Given the description of an element on the screen output the (x, y) to click on. 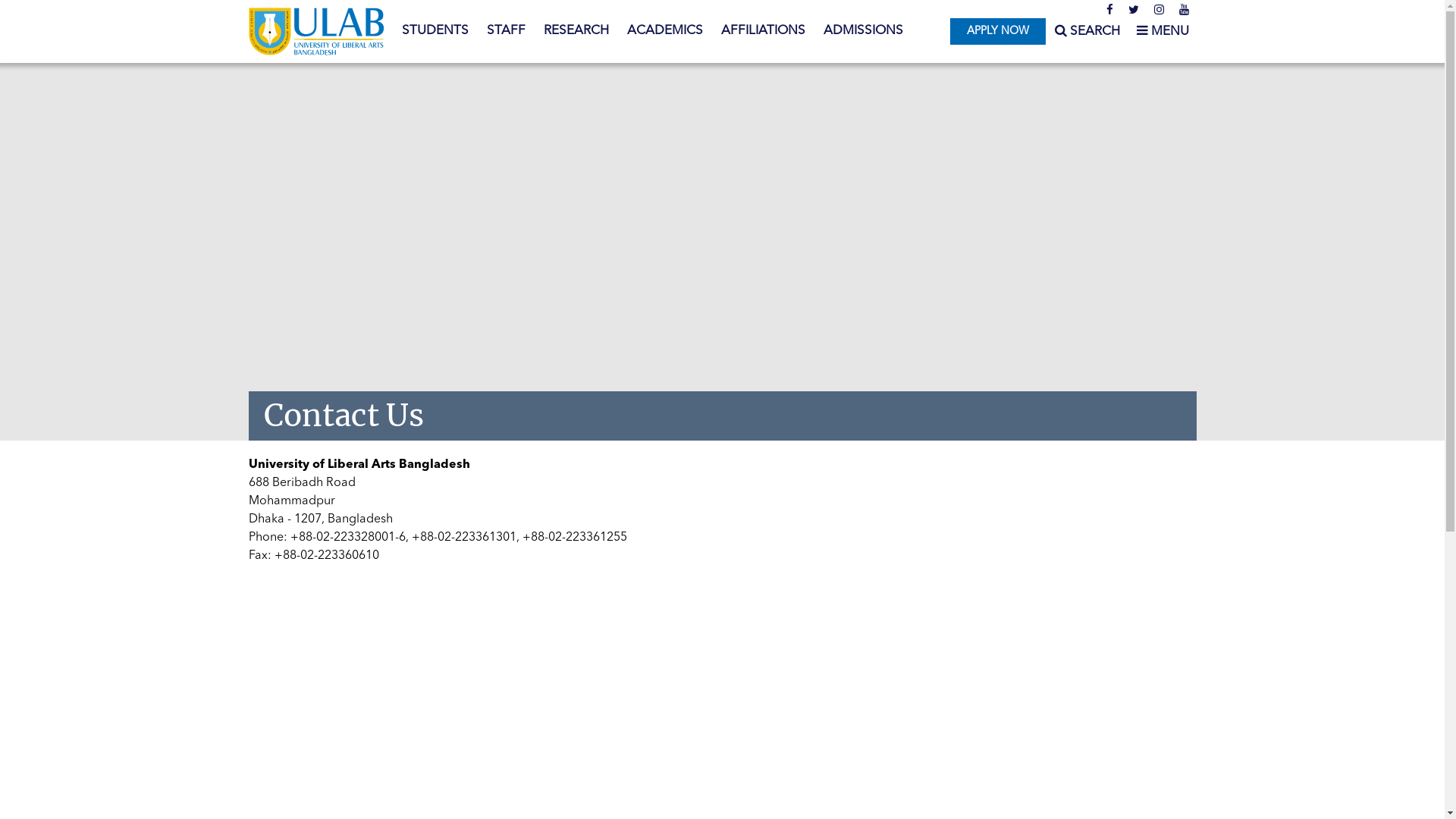
APPLY NOW Element type: text (997, 31)
SEARCH Element type: text (1086, 31)
RESEARCH Element type: text (575, 30)
ADMISSIONS Element type: text (863, 30)
ACADEMICS Element type: text (664, 30)
Skip to main content Element type: text (61, 0)
STAFF Element type: text (505, 30)
STUDENTS Element type: text (434, 30)
AFFILIATIONS Element type: text (762, 30)
MENU Element type: text (1161, 31)
